Given the description of an element on the screen output the (x, y) to click on. 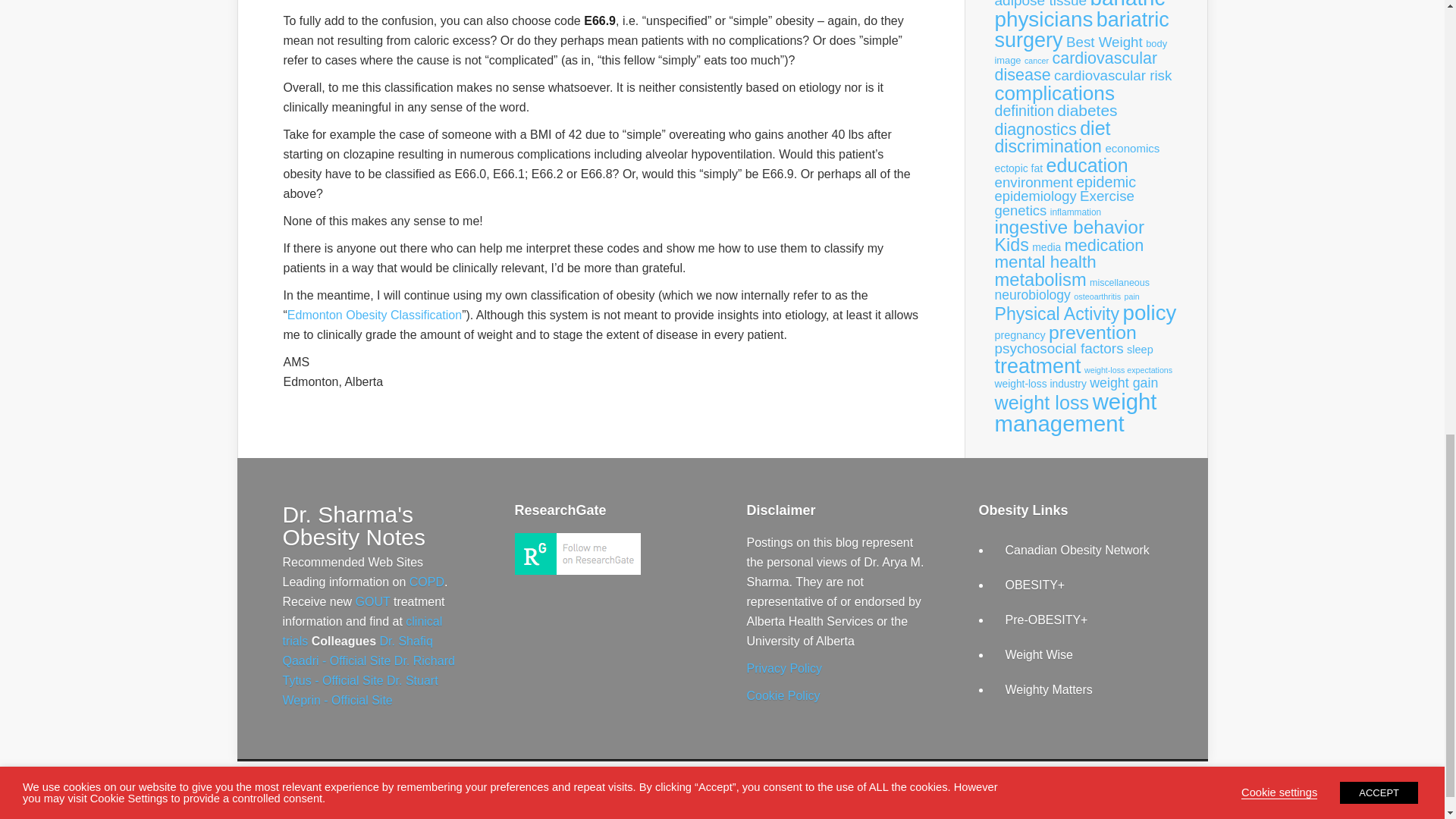
bariatric physicians (1080, 15)
Best Weight (1103, 41)
complications (1054, 92)
Canadian Obesity Network (1078, 549)
bariatric surgery (1081, 29)
discrimination (1048, 146)
Weight Wise (1040, 654)
cardiovascular disease (1075, 66)
Arya Mitra Sharma (576, 570)
diabetes (1086, 109)
diet (1094, 127)
ectopic fat (1018, 168)
economics (1131, 147)
cancer (1036, 60)
Gout Institute (372, 601)
